Given the description of an element on the screen output the (x, y) to click on. 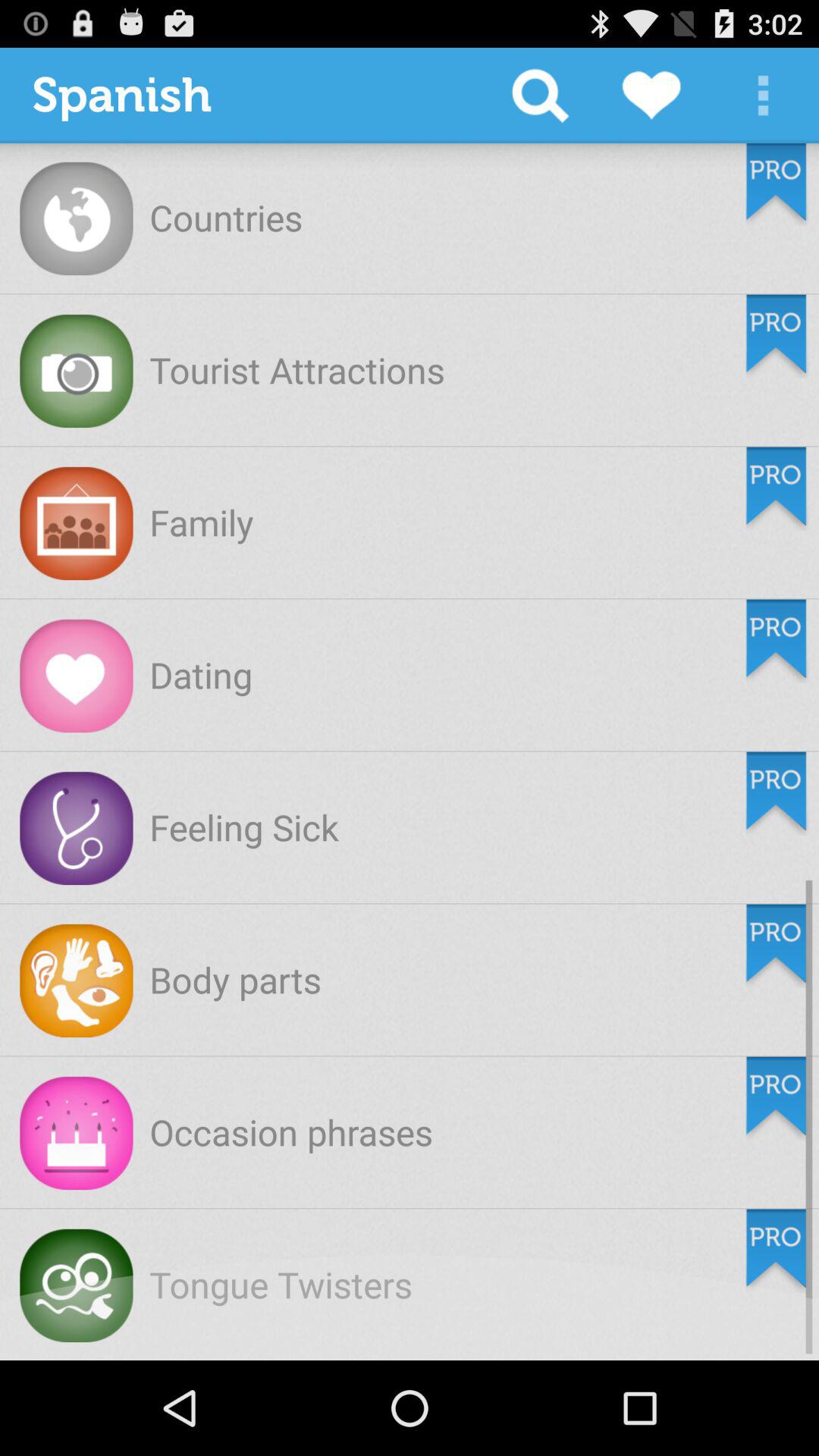
scroll to body parts icon (235, 979)
